Given the description of an element on the screen output the (x, y) to click on. 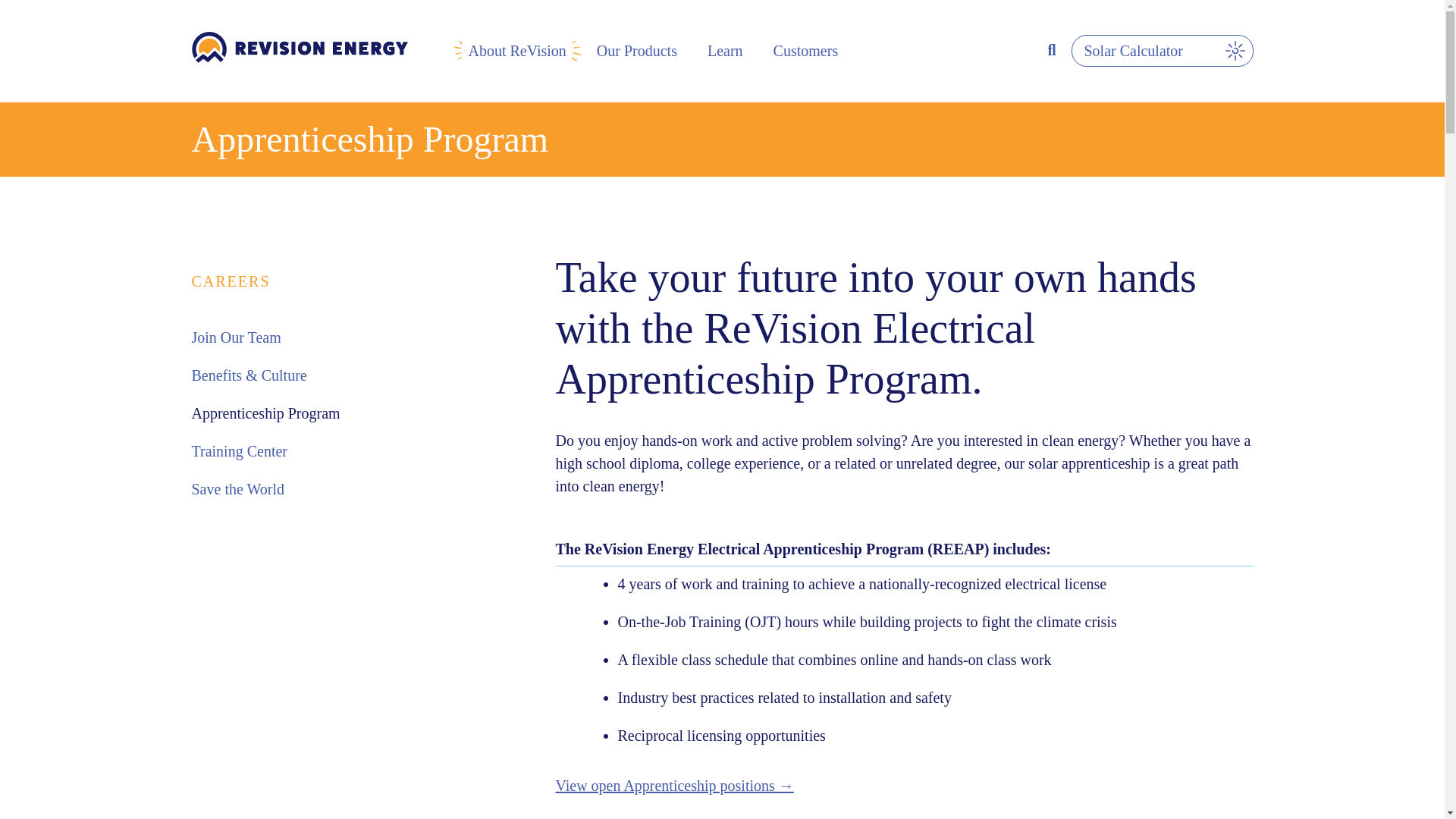
About ReVision (517, 50)
Our Products (636, 50)
